Given the description of an element on the screen output the (x, y) to click on. 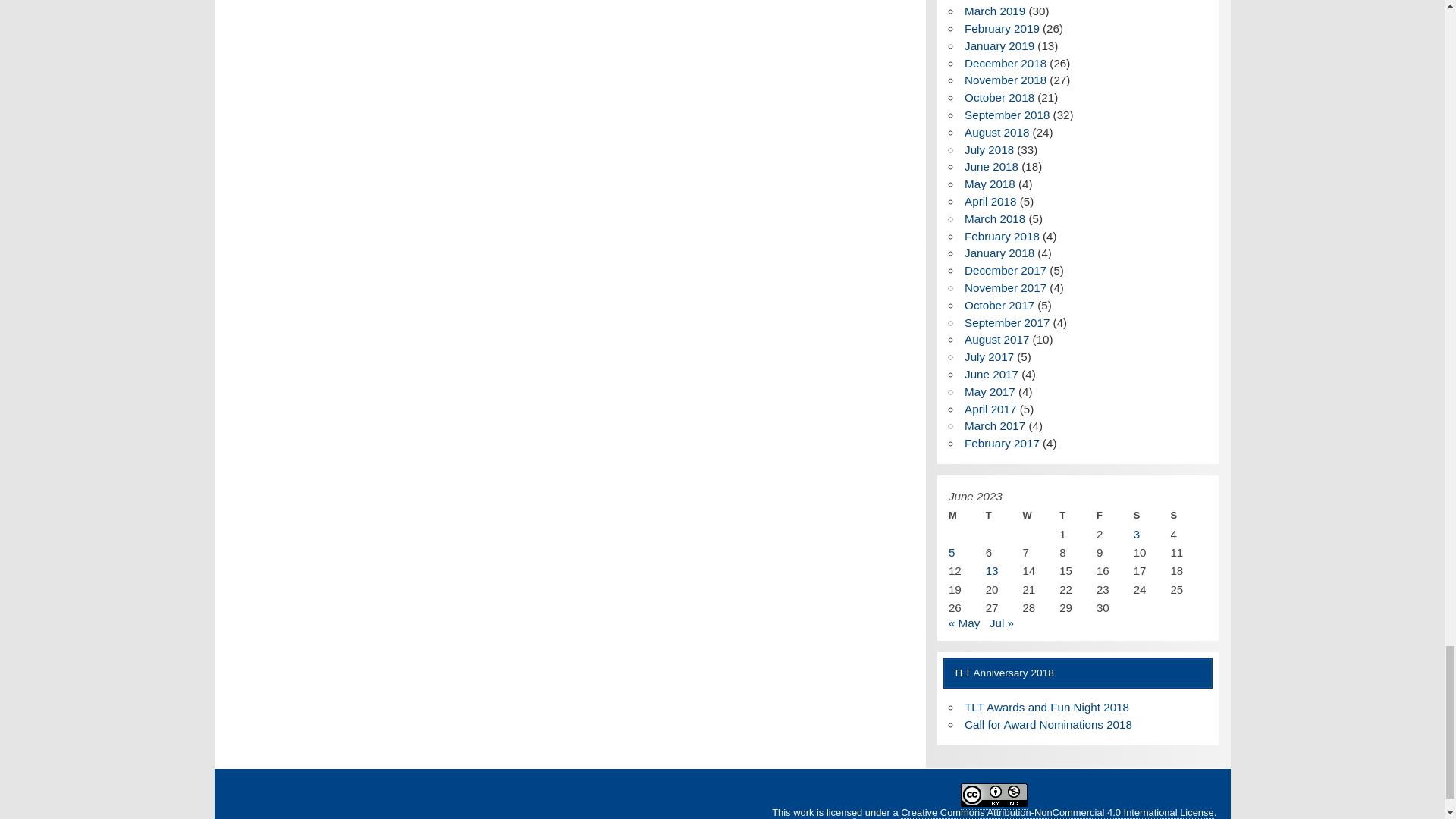
Tuesday (1004, 515)
Saturday (1152, 515)
Friday (1115, 515)
Wednesday (1040, 515)
Thursday (1077, 515)
Sunday (1188, 515)
Monday (967, 515)
